Given the description of an element on the screen output the (x, y) to click on. 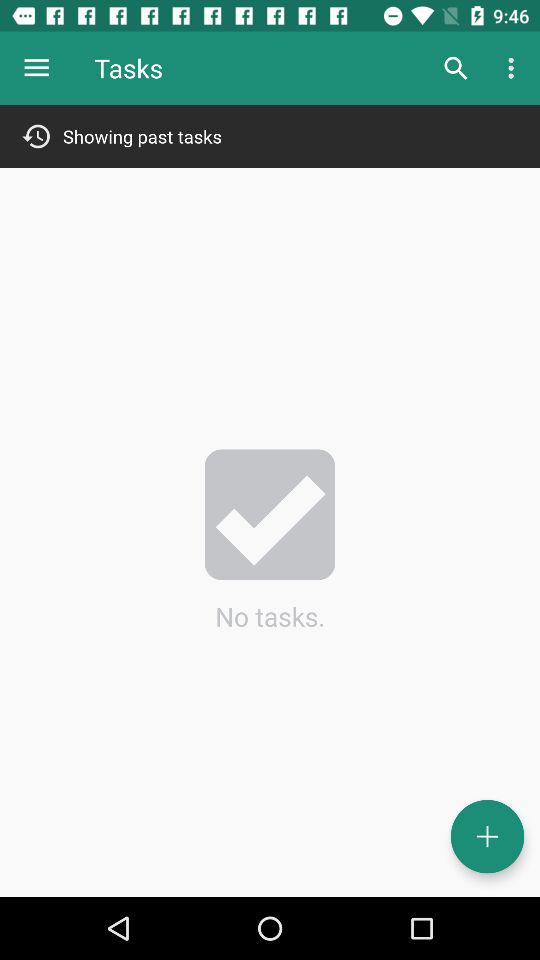
select the item above showing past tasks item (513, 67)
